Given the description of an element on the screen output the (x, y) to click on. 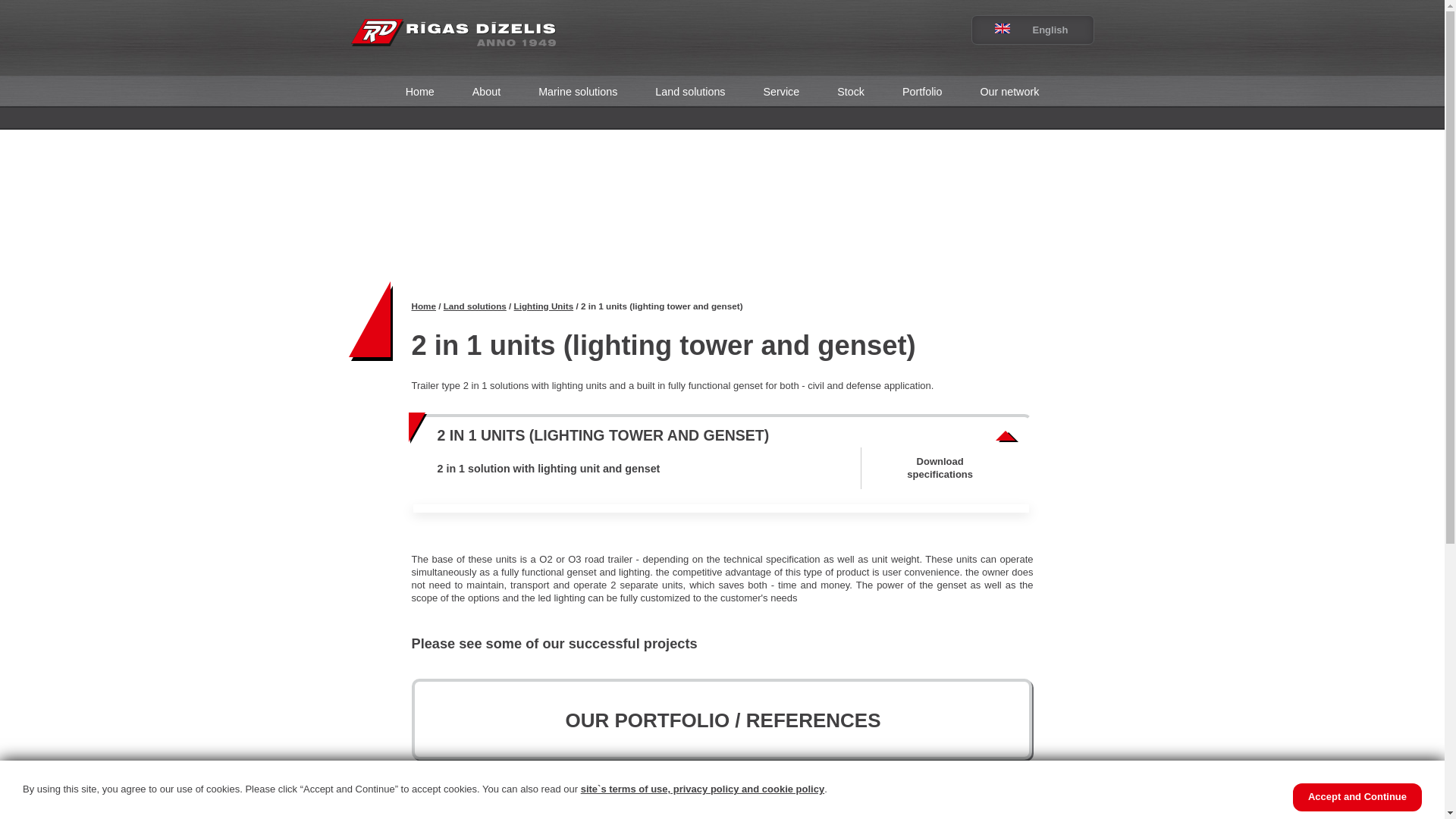
English (1020, 30)
About (485, 91)
Marine solutions (577, 91)
Home (419, 91)
Land solutions (690, 91)
Accept and Continue (1357, 796)
